Given the description of an element on the screen output the (x, y) to click on. 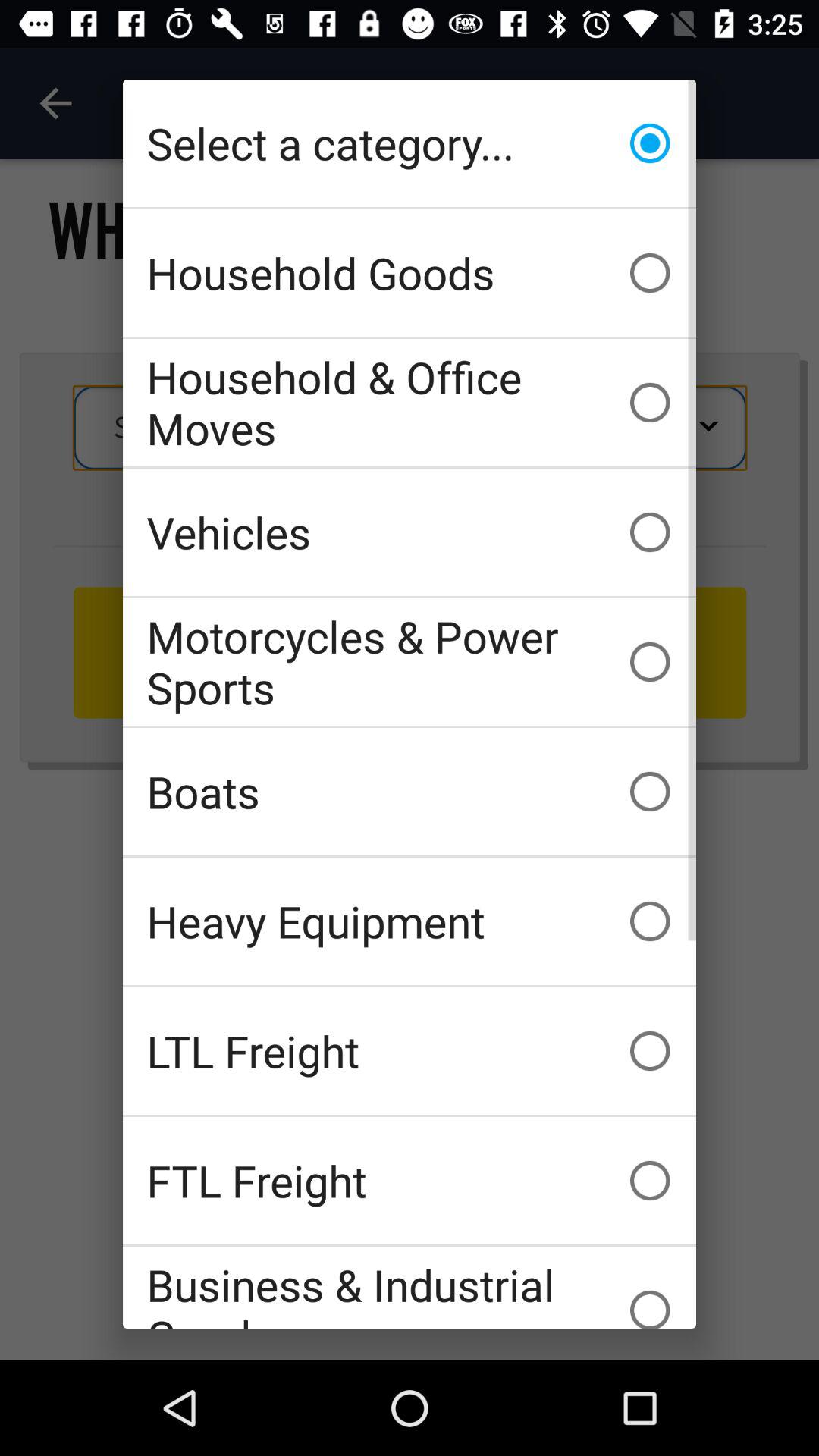
tap the icon below the household & office moves icon (409, 532)
